Given the description of an element on the screen output the (x, y) to click on. 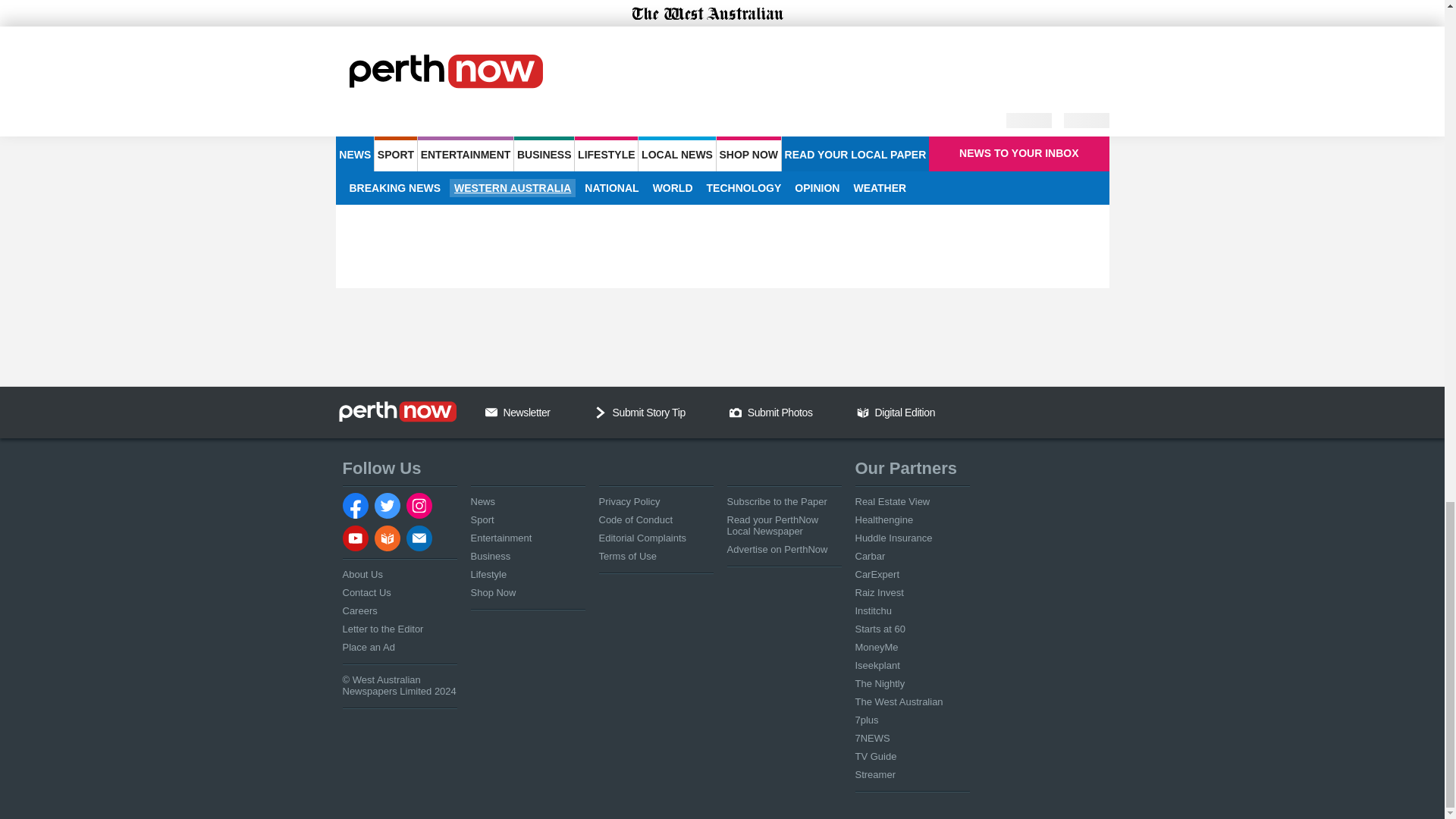
Chevron Down Icon (600, 412)
Email Us (490, 412)
Camera Icon (735, 412)
